Given the description of an element on the screen output the (x, y) to click on. 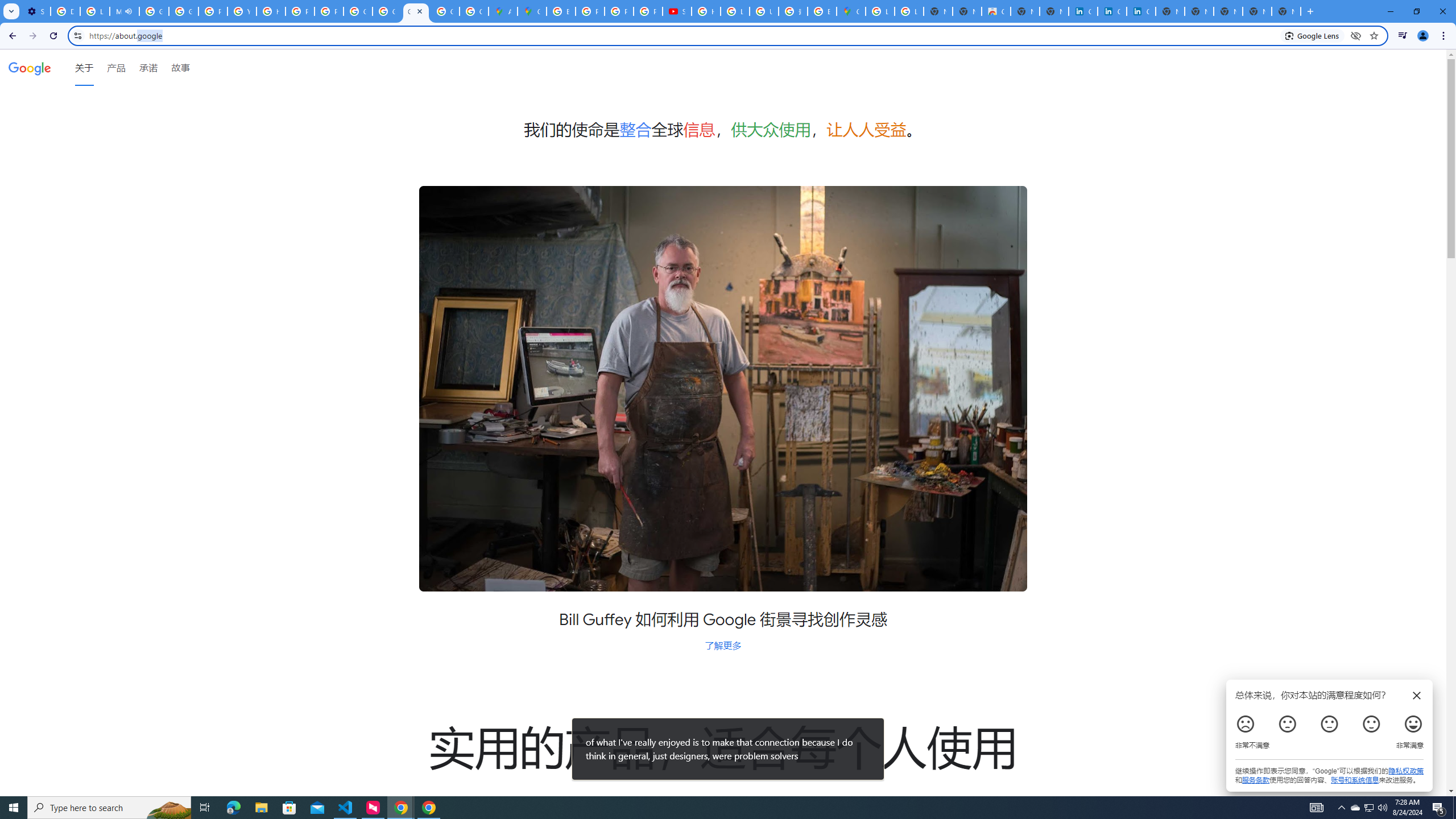
YouTube (242, 11)
Learn how to find your photos - Google Photos Help (95, 11)
Google Account Help (153, 11)
Privacy Help Center - Policies Help (300, 11)
https://scholar.google.com/ (271, 11)
Control your music, videos, and more (1402, 35)
Google Account Help (183, 11)
Delete photos & videos - Computer - Google Photos Help (65, 11)
